Given the description of an element on the screen output the (x, y) to click on. 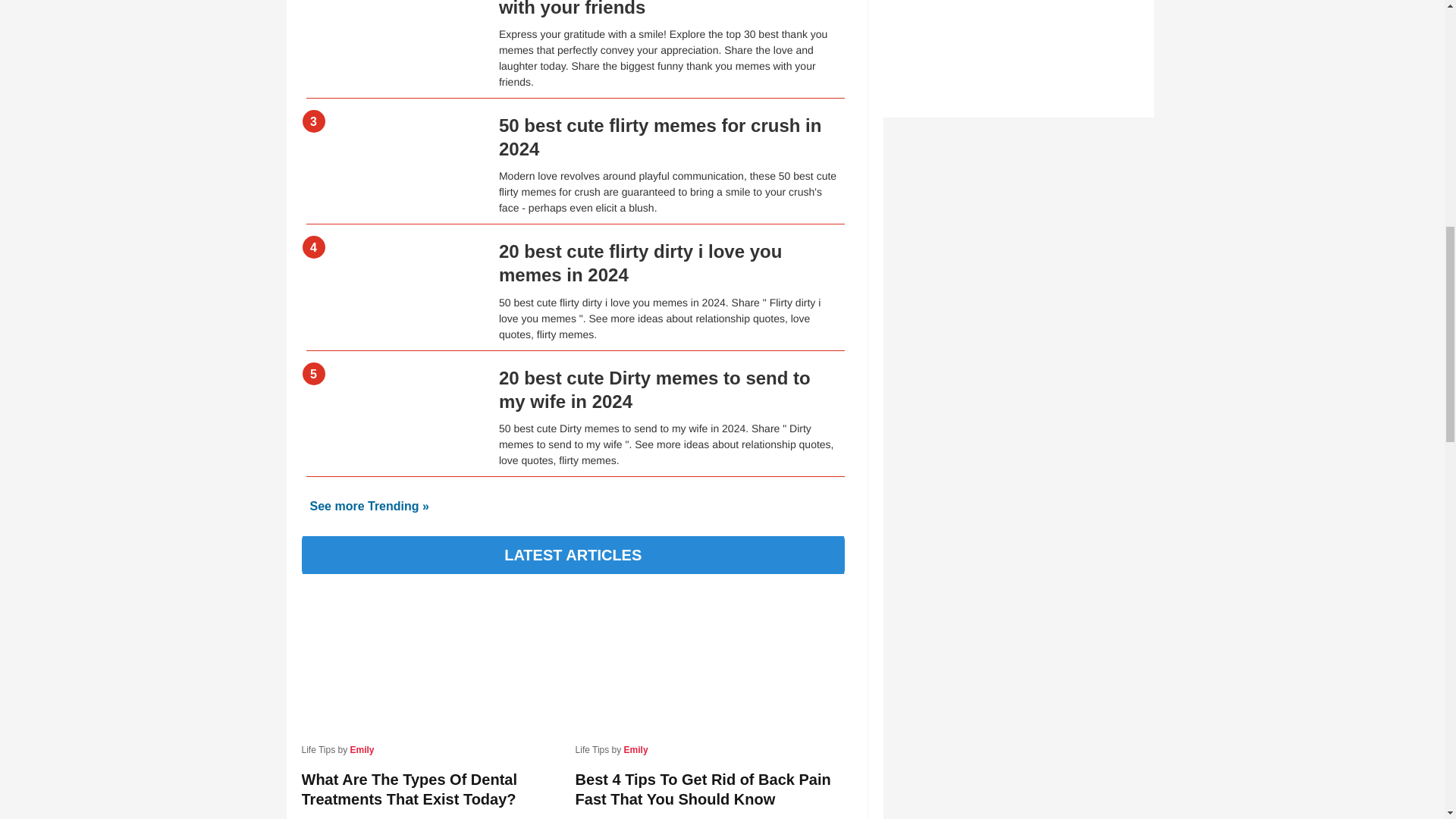
20 best cute flirty dirty i love you memes in 2024 (394, 259)
20 best cute Dirty memes to send to my wife in 2024 (654, 388)
30 biggest funny thank you memes with your friends (650, 8)
3 (394, 133)
4 (394, 259)
20 best cute flirty dirty i love you memes in 2024 (640, 262)
5 (394, 385)
50 best cute flirty memes for crush in 2024 (660, 136)
20 best cute flirty dirty i love you memes in 2024 (640, 262)
What Are The Types Of Dental Treatments That Exist Today? (434, 789)
30 biggest funny thank you memes with your friends (650, 8)
50 best cute flirty memes for crush in 2024 (660, 136)
50 best cute flirty memes for crush in 2024 (394, 133)
